Given the description of an element on the screen output the (x, y) to click on. 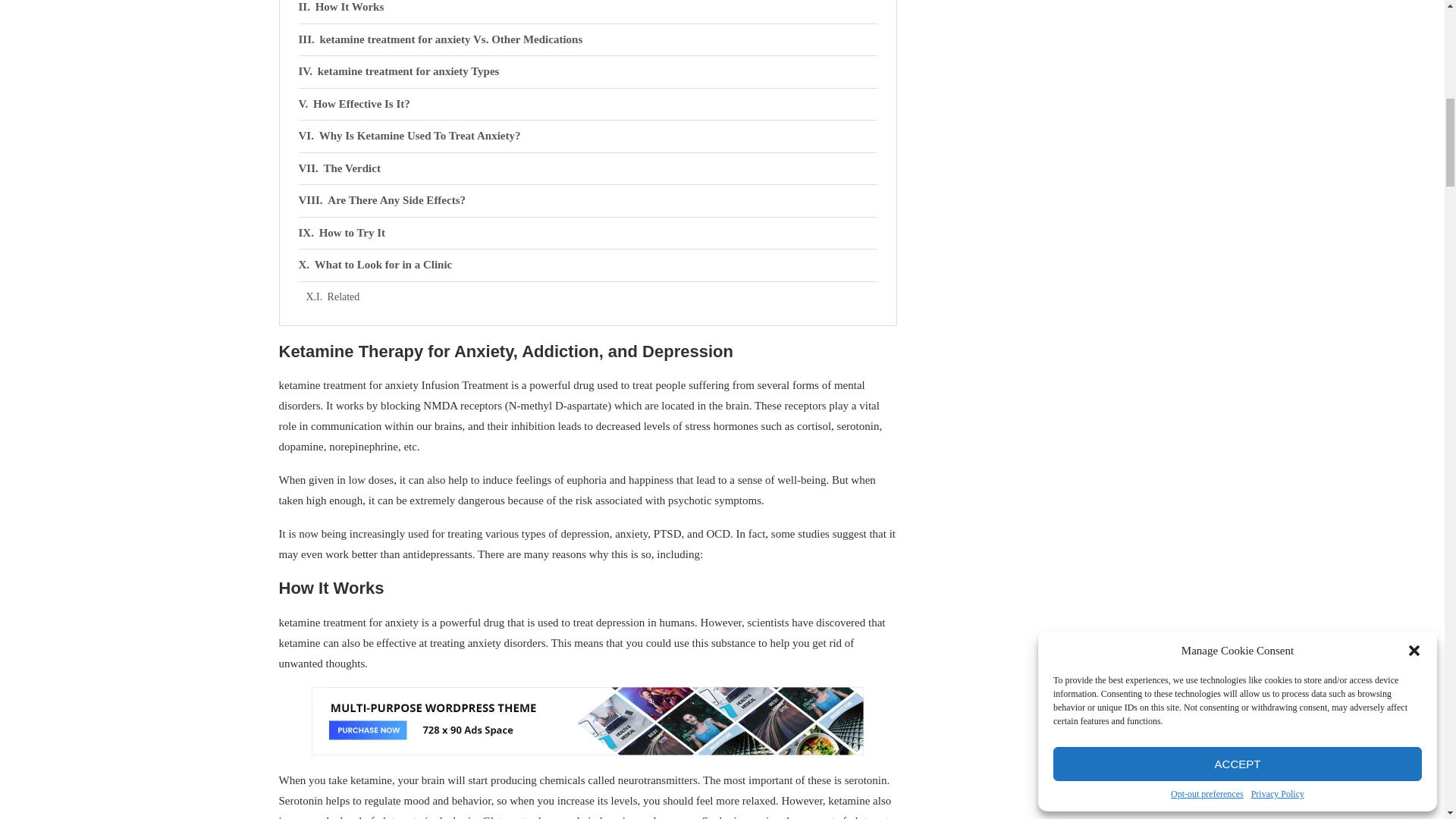
ketamine treatment for anxiety Vs. Other Medications (587, 40)
How It Works (587, 11)
How Effective Is It? (587, 104)
Are There Any Side Effects? (587, 201)
ketamine treatment for anxiety Types (587, 71)
The Verdict (587, 169)
How to Try It (587, 233)
Why Is Ketamine Used To Treat Anxiety? (587, 136)
